Given the description of an element on the screen output the (x, y) to click on. 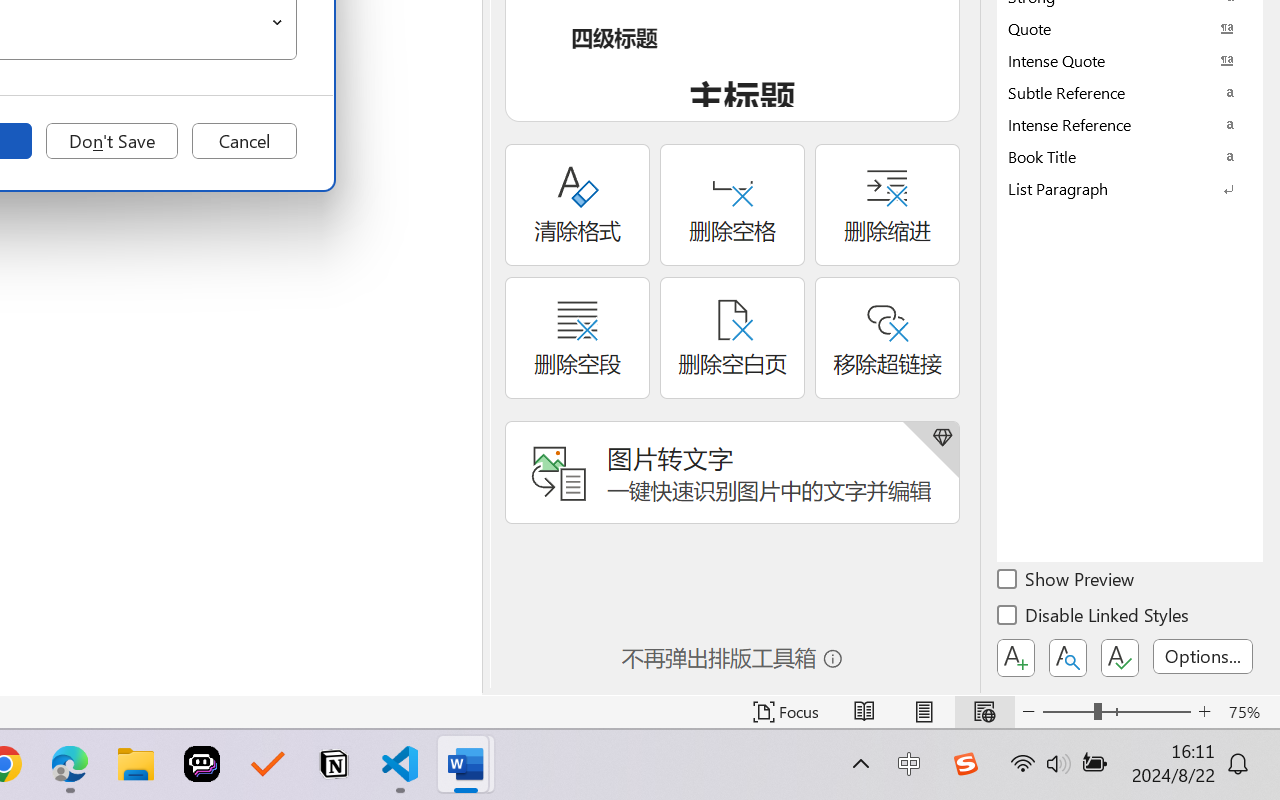
Disable Linked Styles (1094, 618)
Focus  (786, 712)
Show Preview (1067, 582)
Cancel (244, 141)
